Given the description of an element on the screen output the (x, y) to click on. 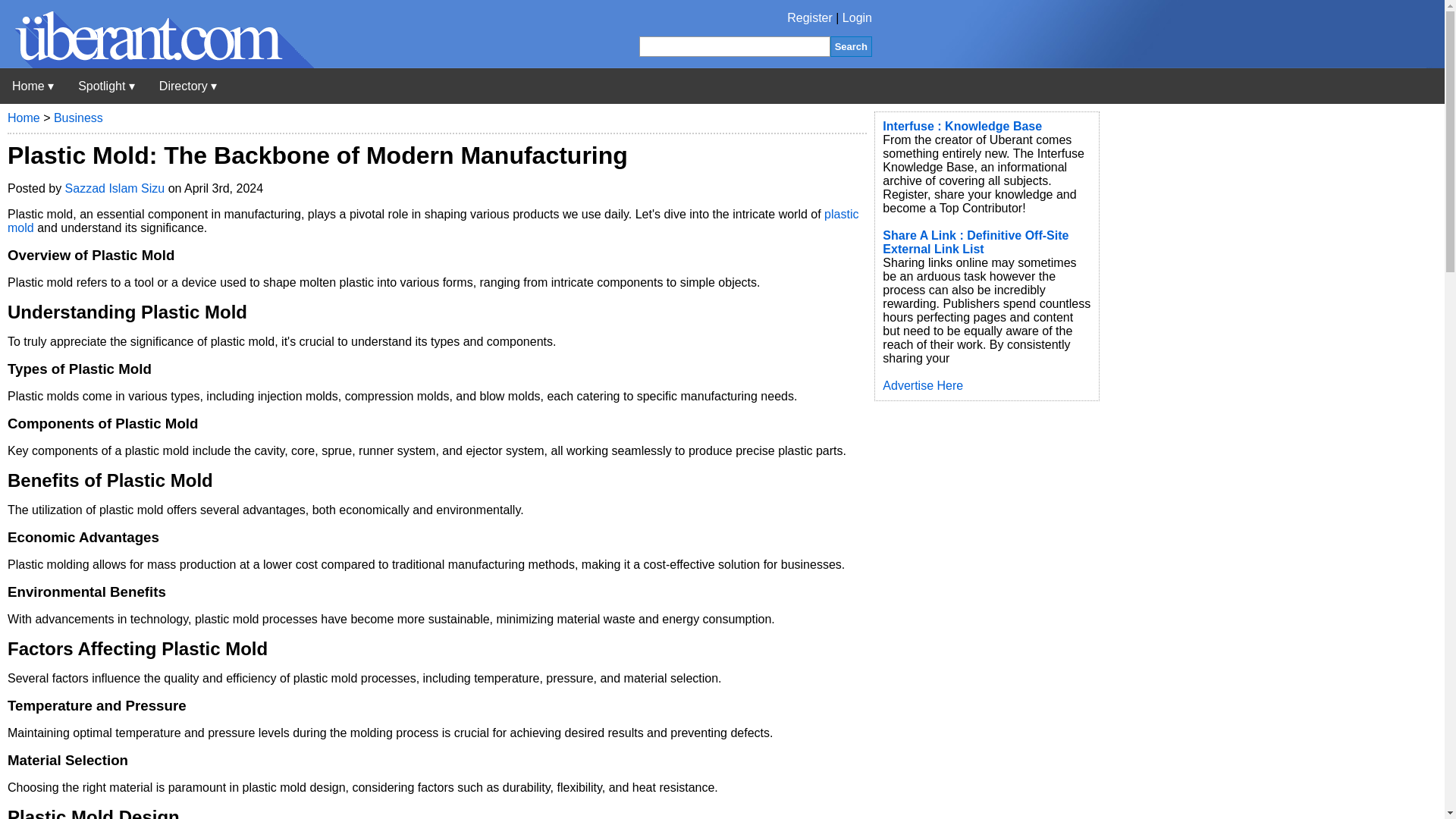
Uberant (157, 63)
Search (850, 46)
Login (857, 17)
Register (809, 17)
Search (850, 46)
Uberant (32, 85)
